Given the description of an element on the screen output the (x, y) to click on. 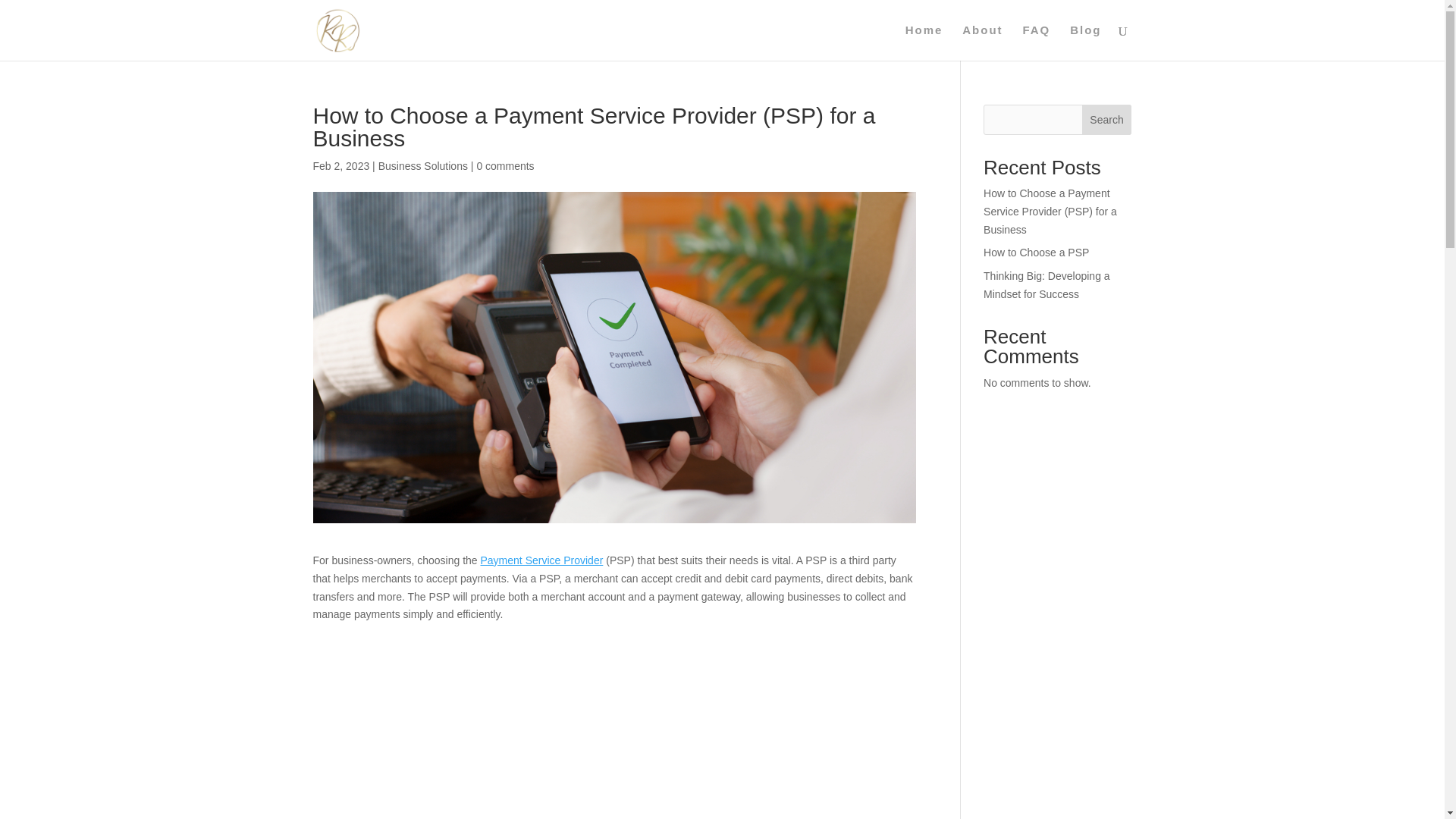
Search (1106, 119)
0 comments (505, 165)
How to Choose a PSP (1036, 252)
Payment Service Provider (542, 560)
Home (924, 42)
Business Solutions (422, 165)
YouTube video player (614, 746)
Thinking Big: Developing a Mindset for Success (1046, 285)
About (982, 42)
